Given the description of an element on the screen output the (x, y) to click on. 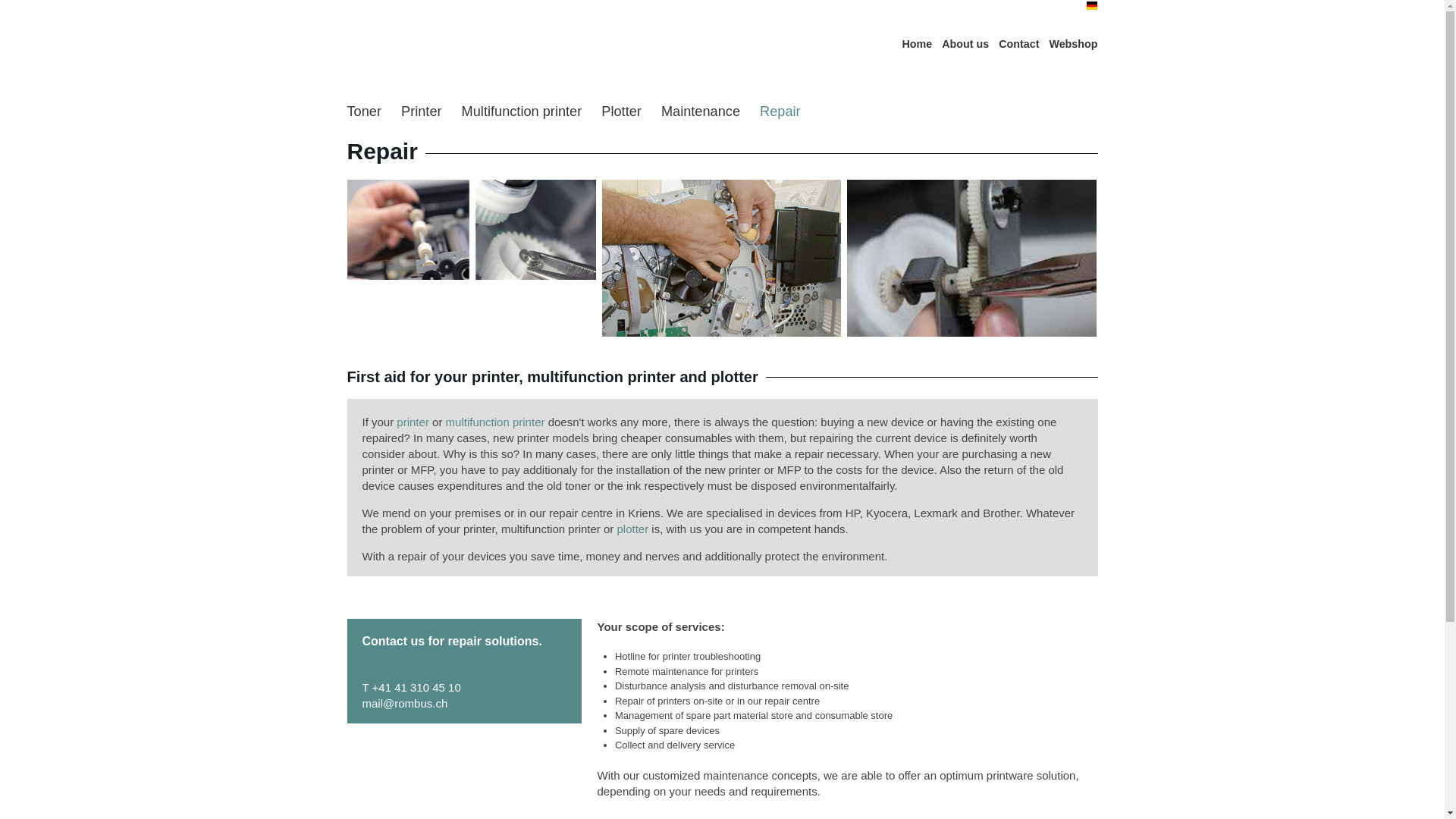
Maintenance (700, 111)
Repair (780, 111)
plotter (633, 528)
Toner (364, 111)
Multifunction printer (521, 111)
Webshop (1072, 43)
Contact (1018, 43)
multifunction printer (494, 421)
printer (412, 421)
Home (917, 43)
Plotter (621, 111)
About us (965, 43)
Printer (421, 111)
